Given the description of an element on the screen output the (x, y) to click on. 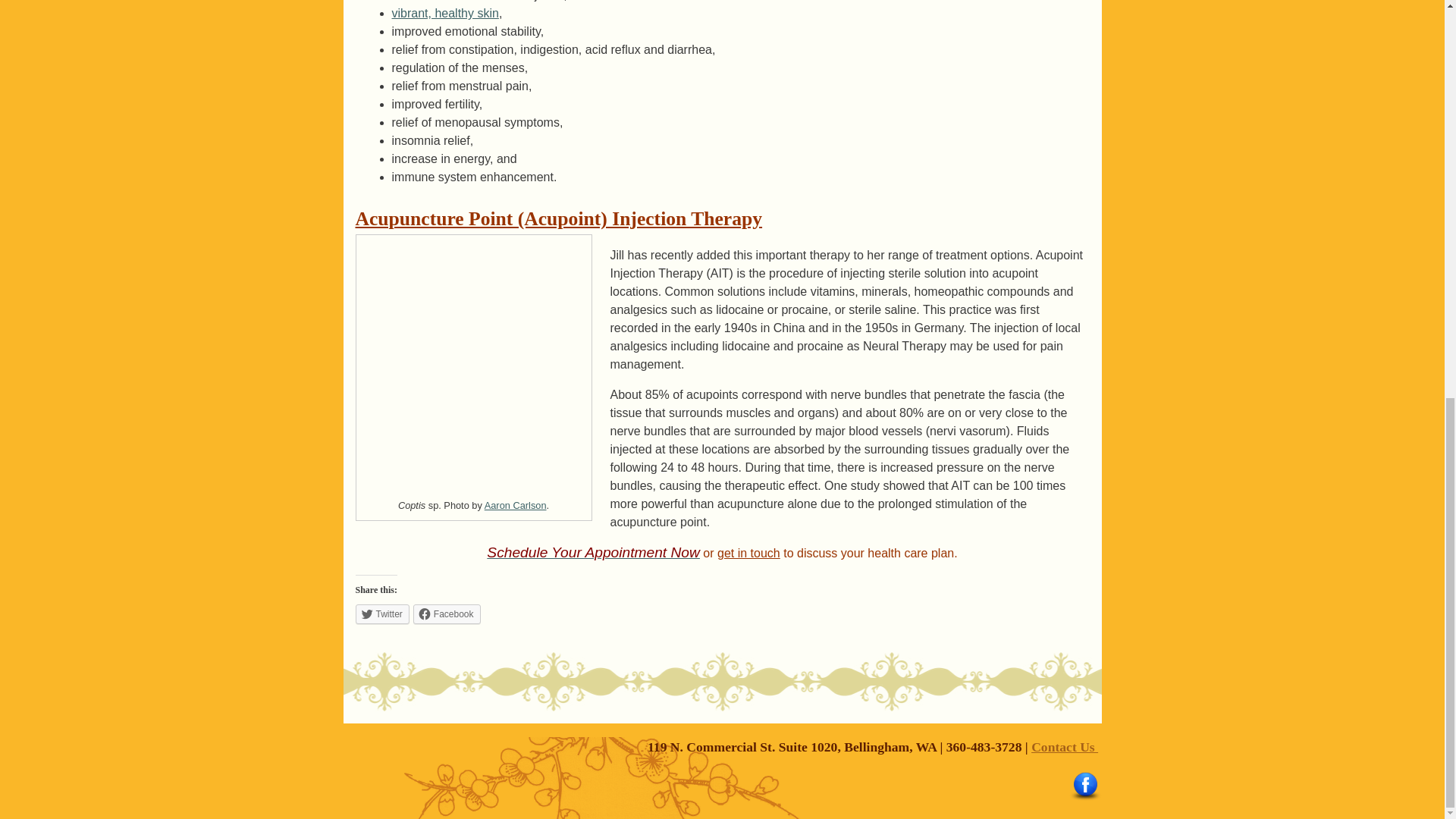
get in touch (748, 553)
Aaron Carlson (515, 505)
Visit Us On Facebook (1083, 798)
Twitter (382, 614)
Click to share on Twitter (382, 614)
Contact Us (1063, 746)
Schedule Your Appointment Now (593, 553)
vibrant, healthy skin (444, 12)
Facebook (446, 614)
Click to share on Facebook (446, 614)
